Given the description of an element on the screen output the (x, y) to click on. 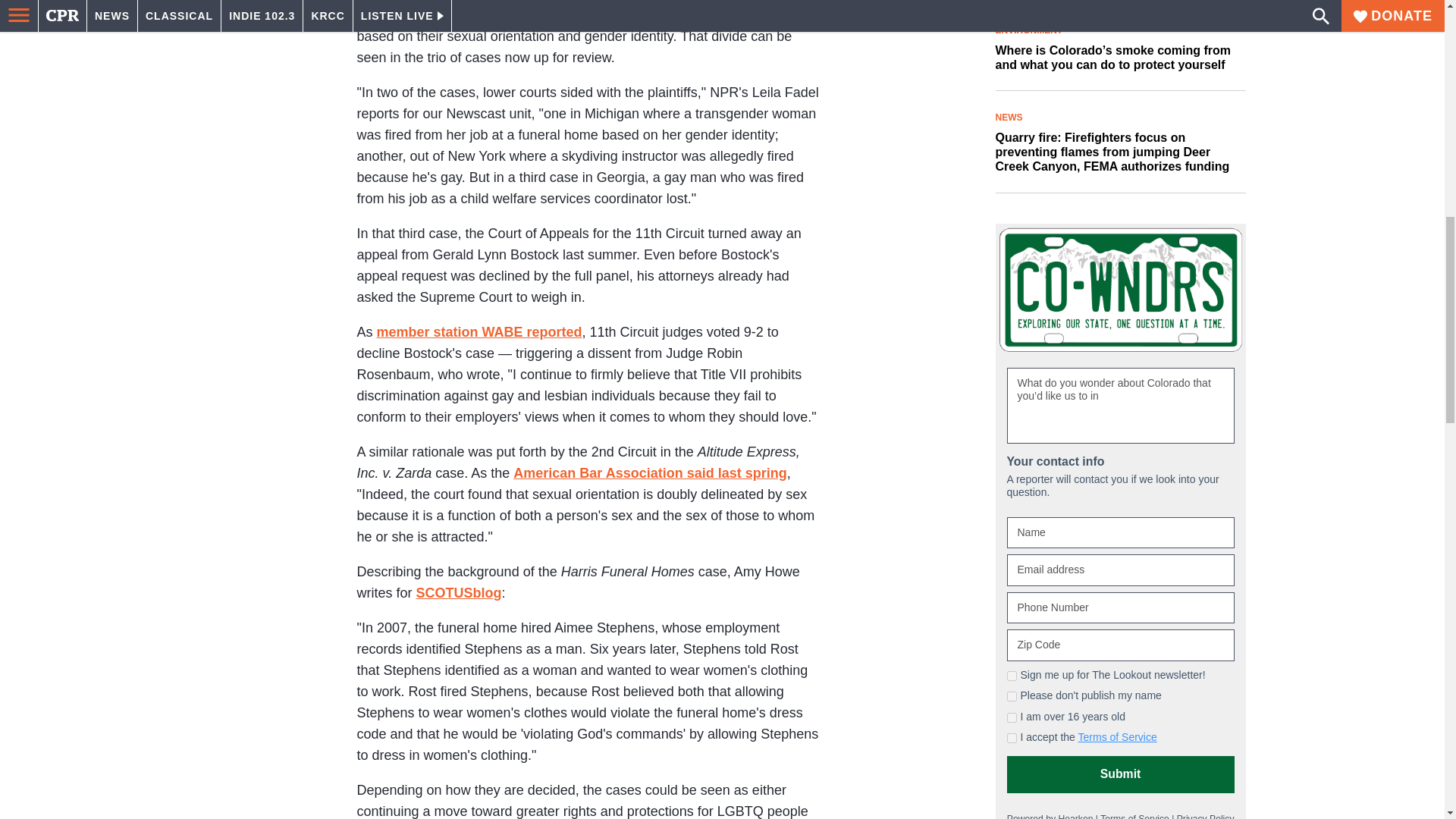
on (1011, 737)
on (1011, 675)
on (1011, 717)
on (1011, 696)
